Given the description of an element on the screen output the (x, y) to click on. 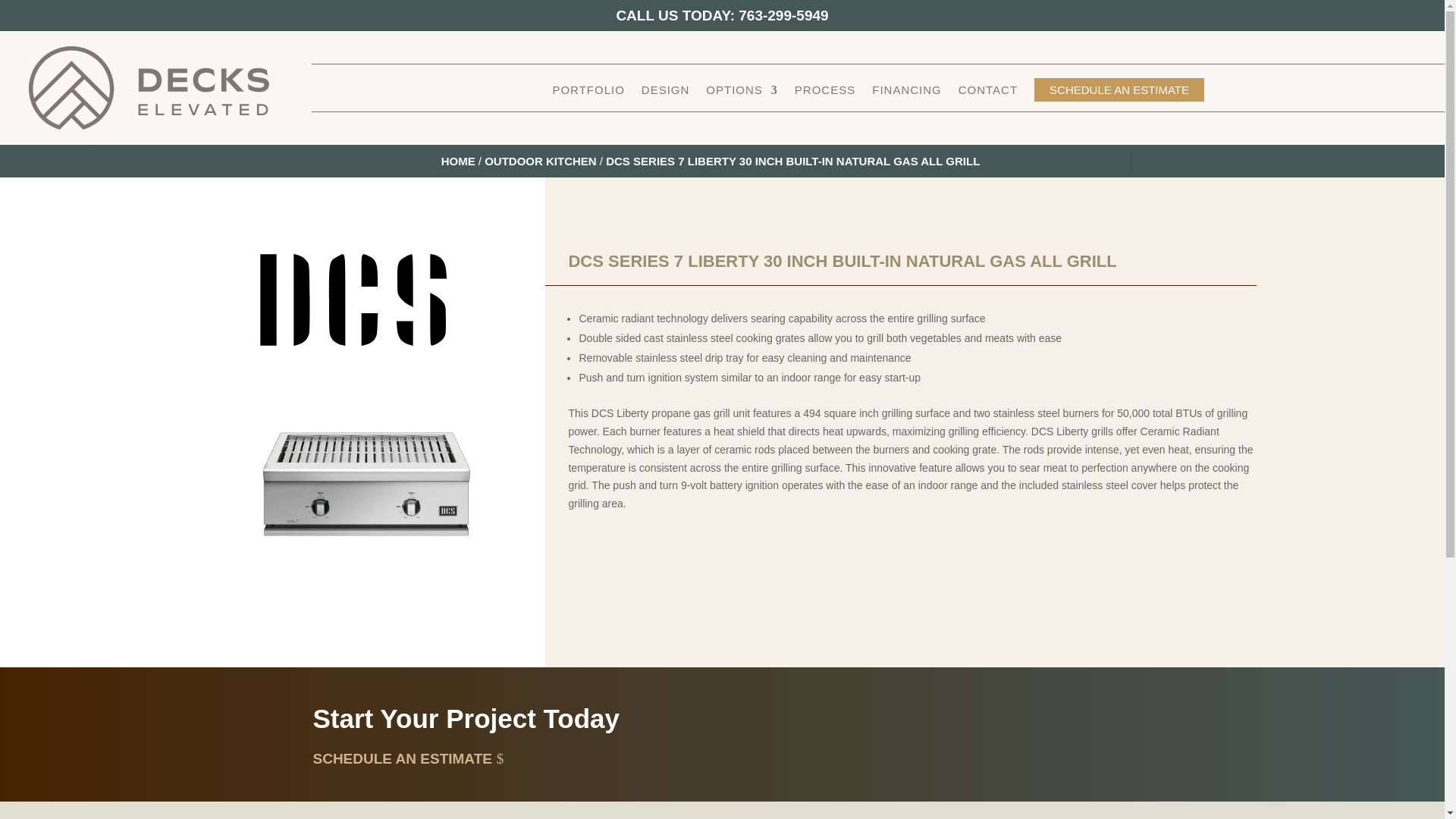
OPTIONS (741, 92)
DCS SERIES 7 LIBERTY 30 INCH BUILT-IN NATURAL GAS ALL GRILL (792, 170)
Go to Outdoor Kitchen. (540, 160)
DCS Series 7 30 Inch Built In All Grill (366, 483)
SCHEDULE AN ESTIMATE (1118, 89)
DESIGN (666, 92)
HOME (458, 160)
FINANCING (907, 92)
CONTACT (987, 92)
